Given the description of an element on the screen output the (x, y) to click on. 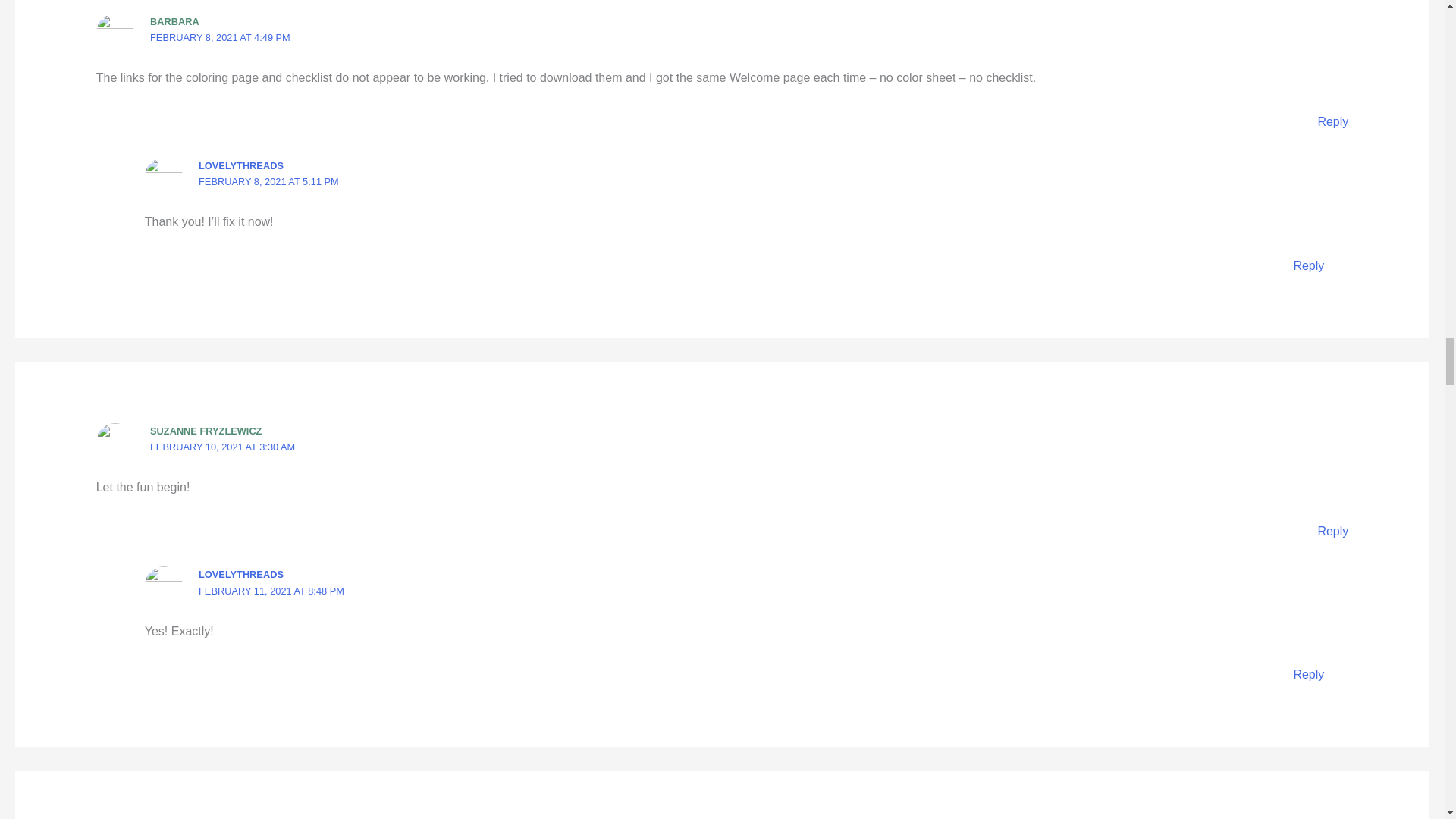
Reply (1332, 530)
Reply (1307, 265)
FEBRUARY 11, 2021 AT 8:48 PM (270, 591)
LOVELYTHREADS (240, 573)
Reply (1332, 121)
LOVELYTHREADS (240, 165)
FEBRUARY 8, 2021 AT 5:11 PM (268, 181)
FEBRUARY 10, 2021 AT 3:30 AM (222, 446)
Reply (1307, 674)
FEBRUARY 8, 2021 AT 4:49 PM (219, 37)
